Given the description of an element on the screen output the (x, y) to click on. 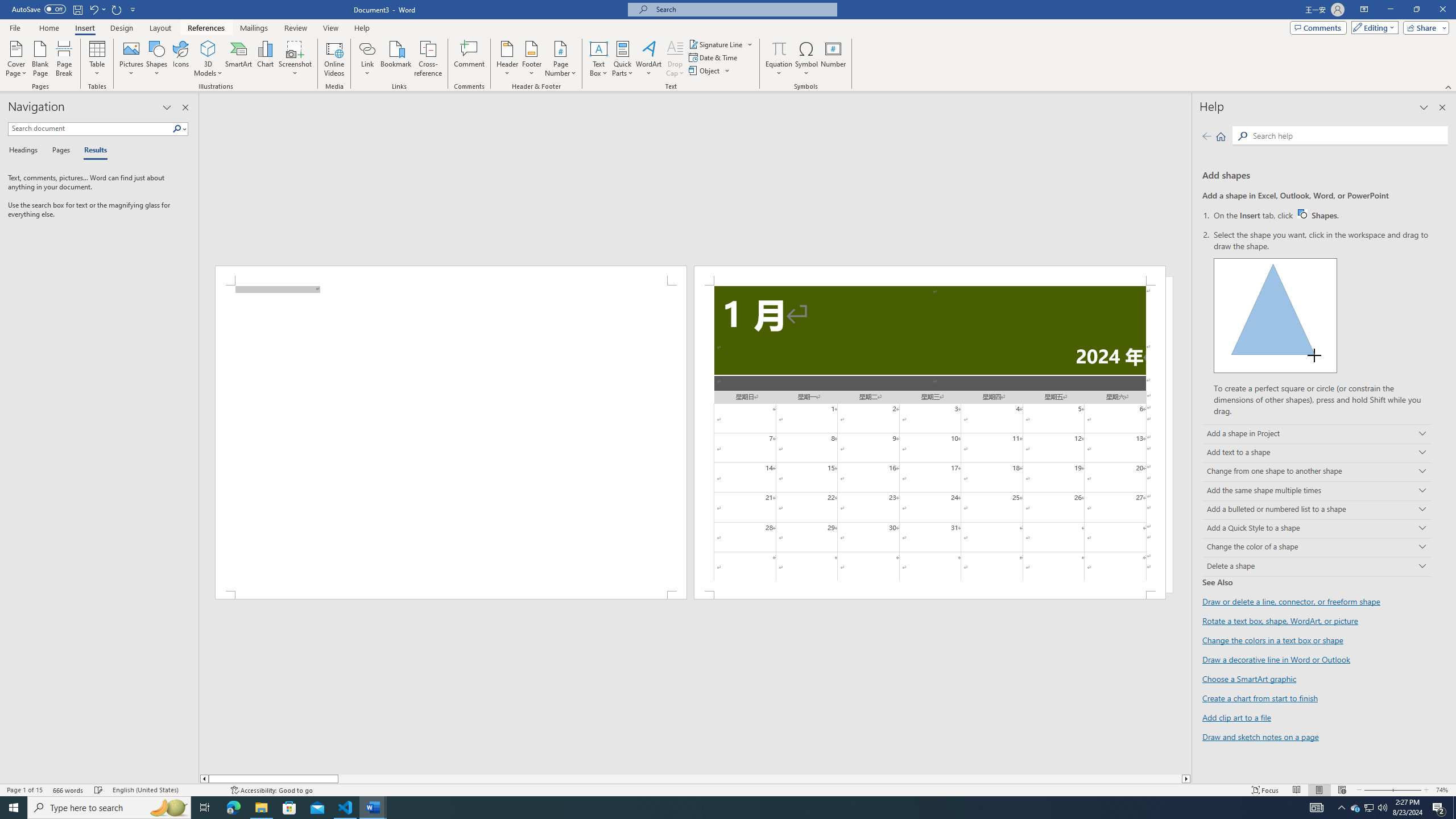
Icons (180, 58)
Change the colors in a text box or shape (1272, 639)
Draw and sketch notes on a page (1260, 736)
Screenshot (295, 58)
Online Videos... (333, 58)
Table (97, 58)
SmartArt... (238, 58)
Object... (705, 69)
